Given the description of an element on the screen output the (x, y) to click on. 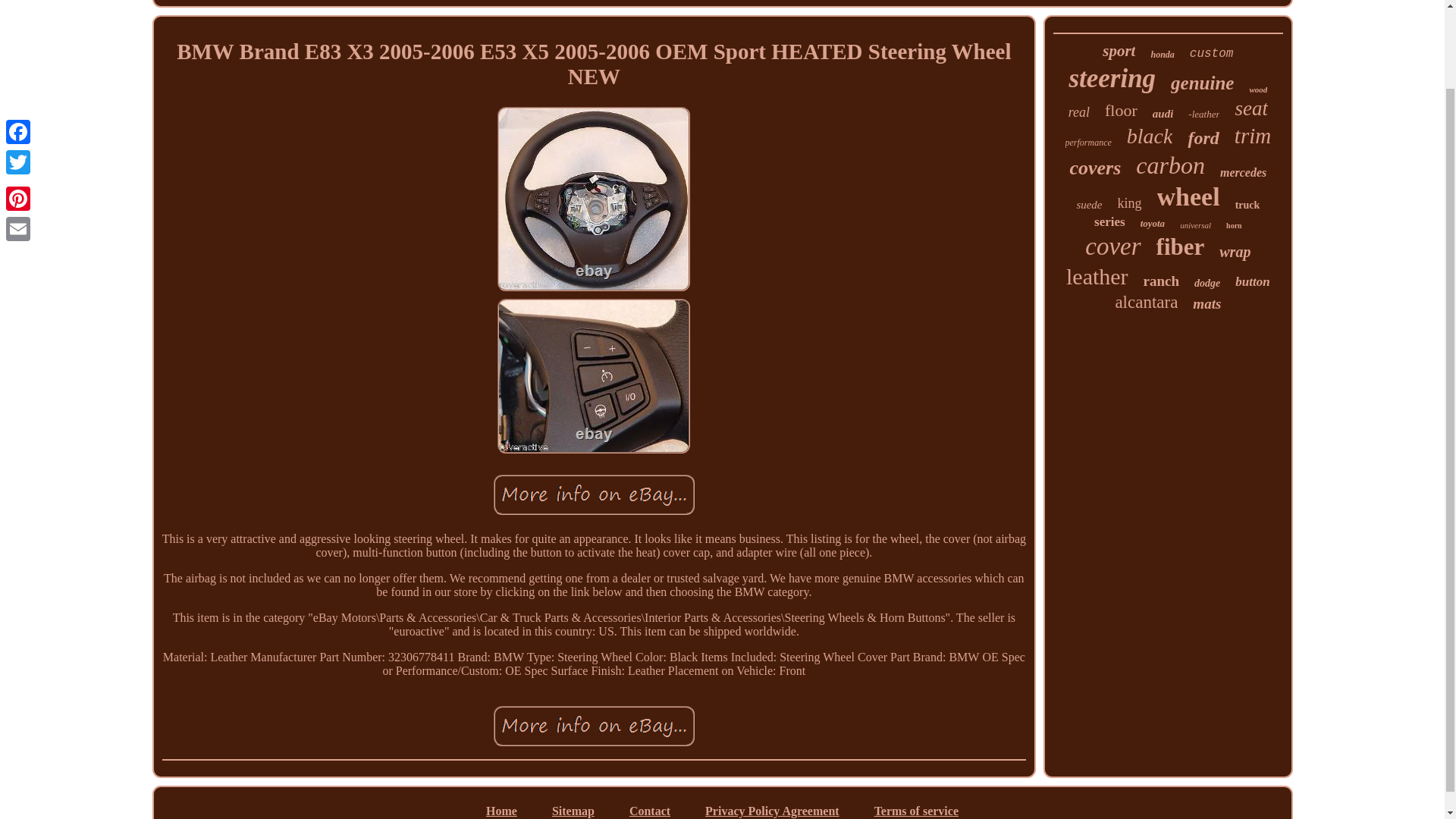
horn (1233, 225)
toyota (1153, 223)
Twitter (17, 71)
sport (1118, 50)
audi (1163, 113)
floor (1121, 110)
covers (1094, 168)
steering (1112, 78)
performance (1088, 142)
truck (1247, 205)
Facebook (17, 41)
trim (1252, 135)
fiber (1180, 247)
mercedes (1243, 172)
